Given the description of an element on the screen output the (x, y) to click on. 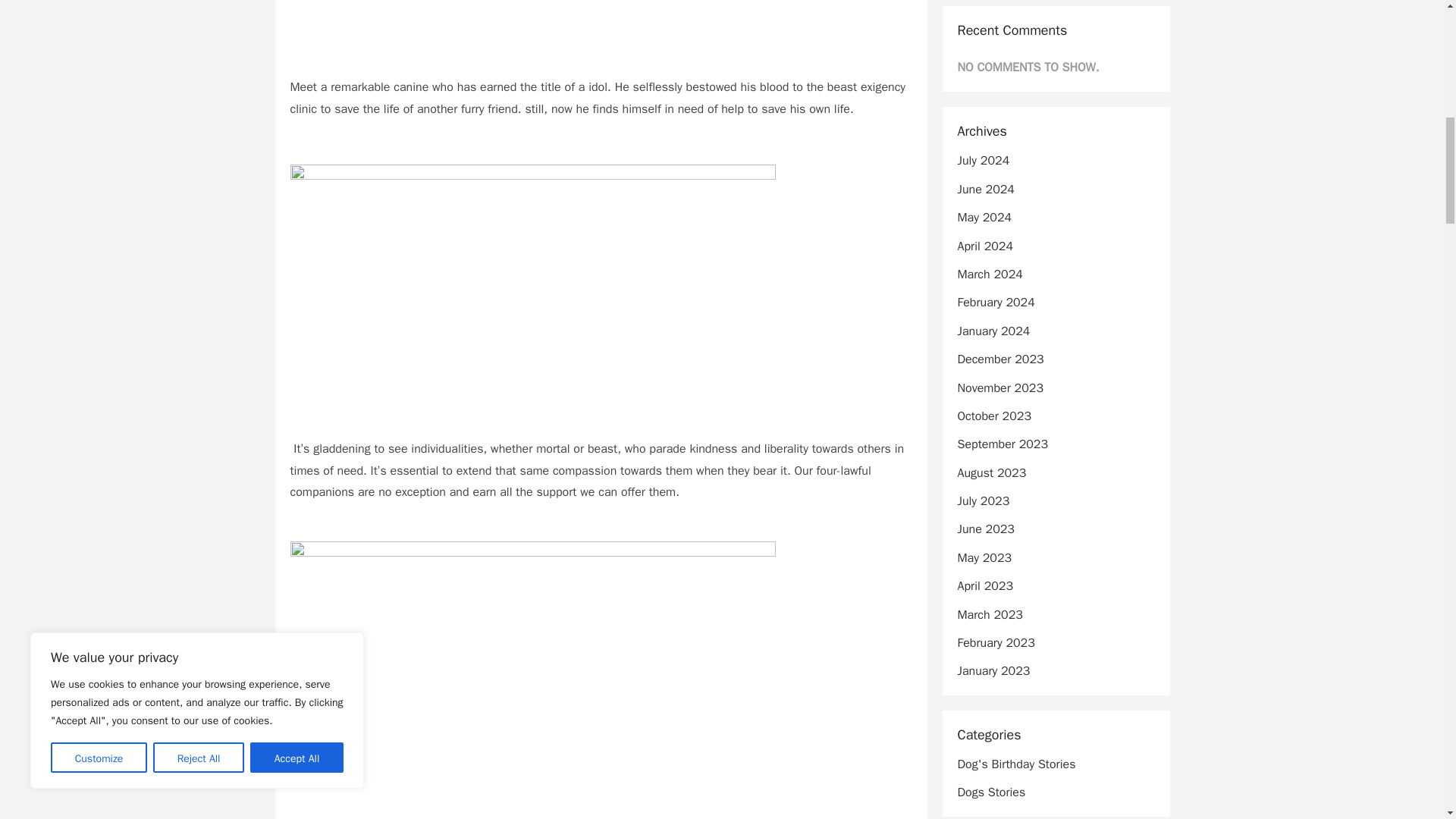
Advertisement (600, 32)
